Given the description of an element on the screen output the (x, y) to click on. 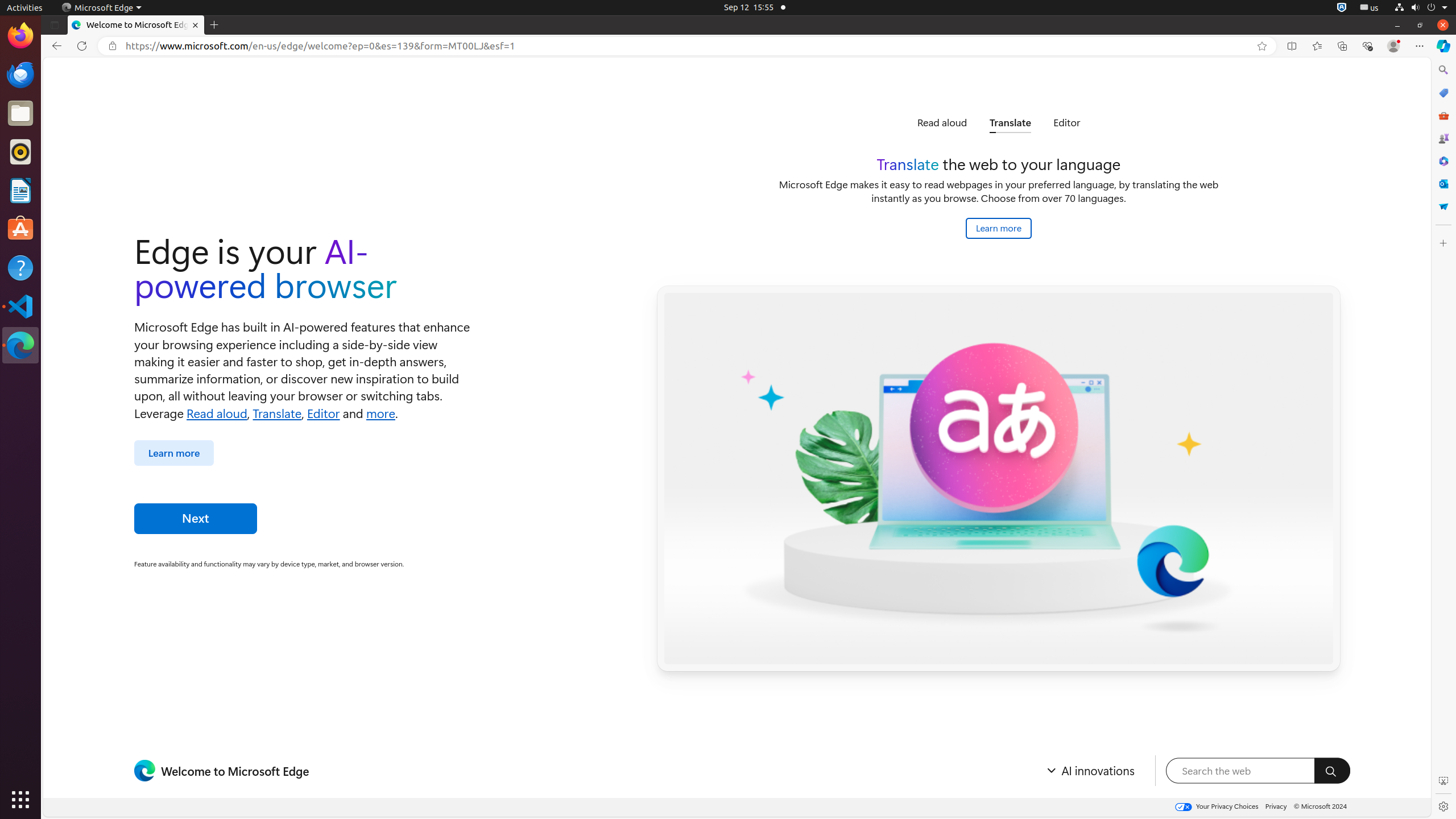
View site information Element type: push-button (112, 46)
Ubuntu Software Element type: push-button (20, 229)
